Given the description of an element on the screen output the (x, y) to click on. 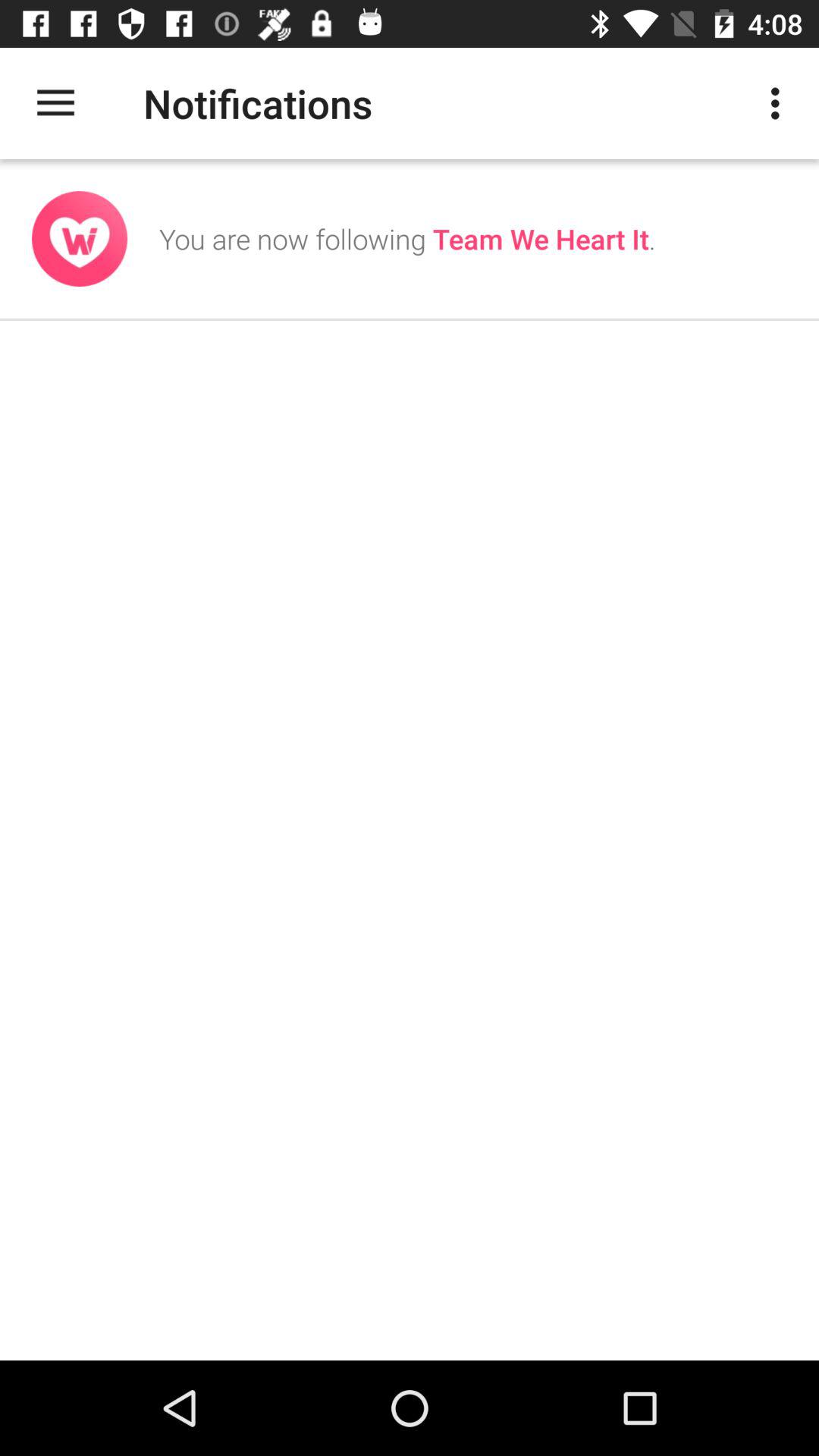
open the icon to the left of the notifications item (55, 103)
